Given the description of an element on the screen output the (x, y) to click on. 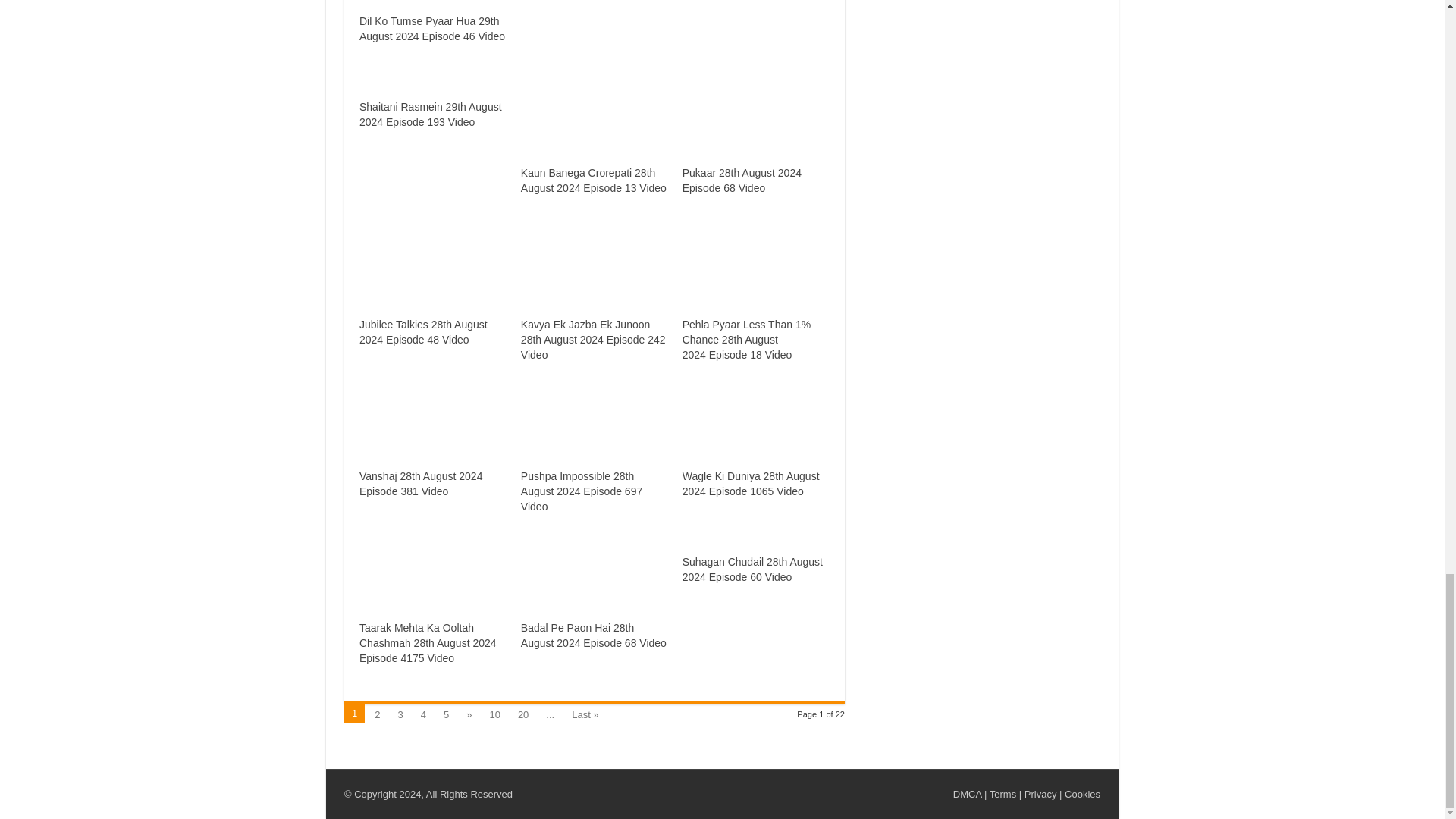
10 (493, 713)
20 (523, 713)
4 (423, 713)
3 (400, 713)
5 (446, 713)
2 (376, 713)
